Given the description of an element on the screen output the (x, y) to click on. 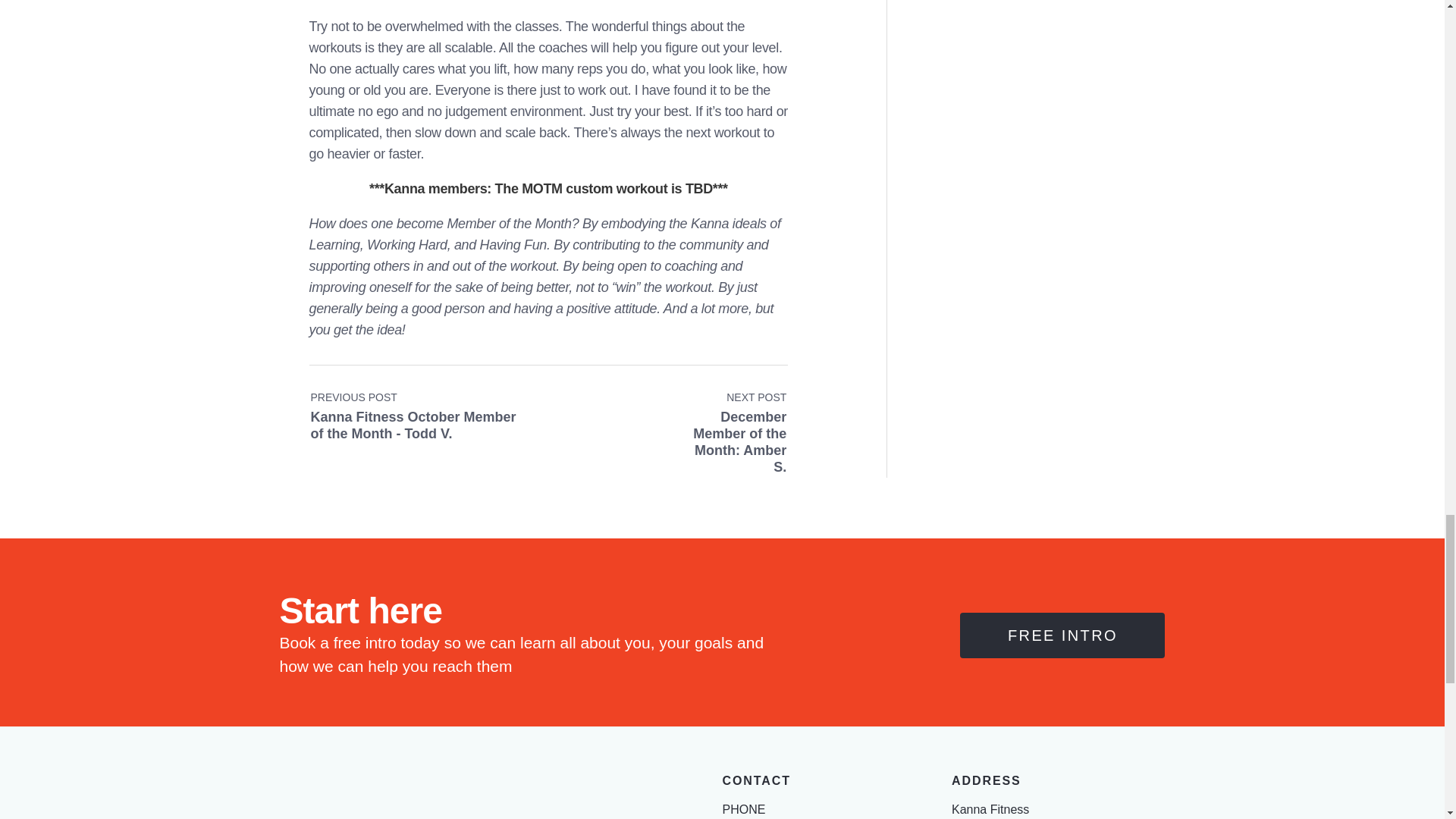
December Member of the Month: Amber S. (726, 407)
Kanna Fitness October Member of the Month - Todd V. (429, 407)
FREE INTRO (726, 407)
